Given the description of an element on the screen output the (x, y) to click on. 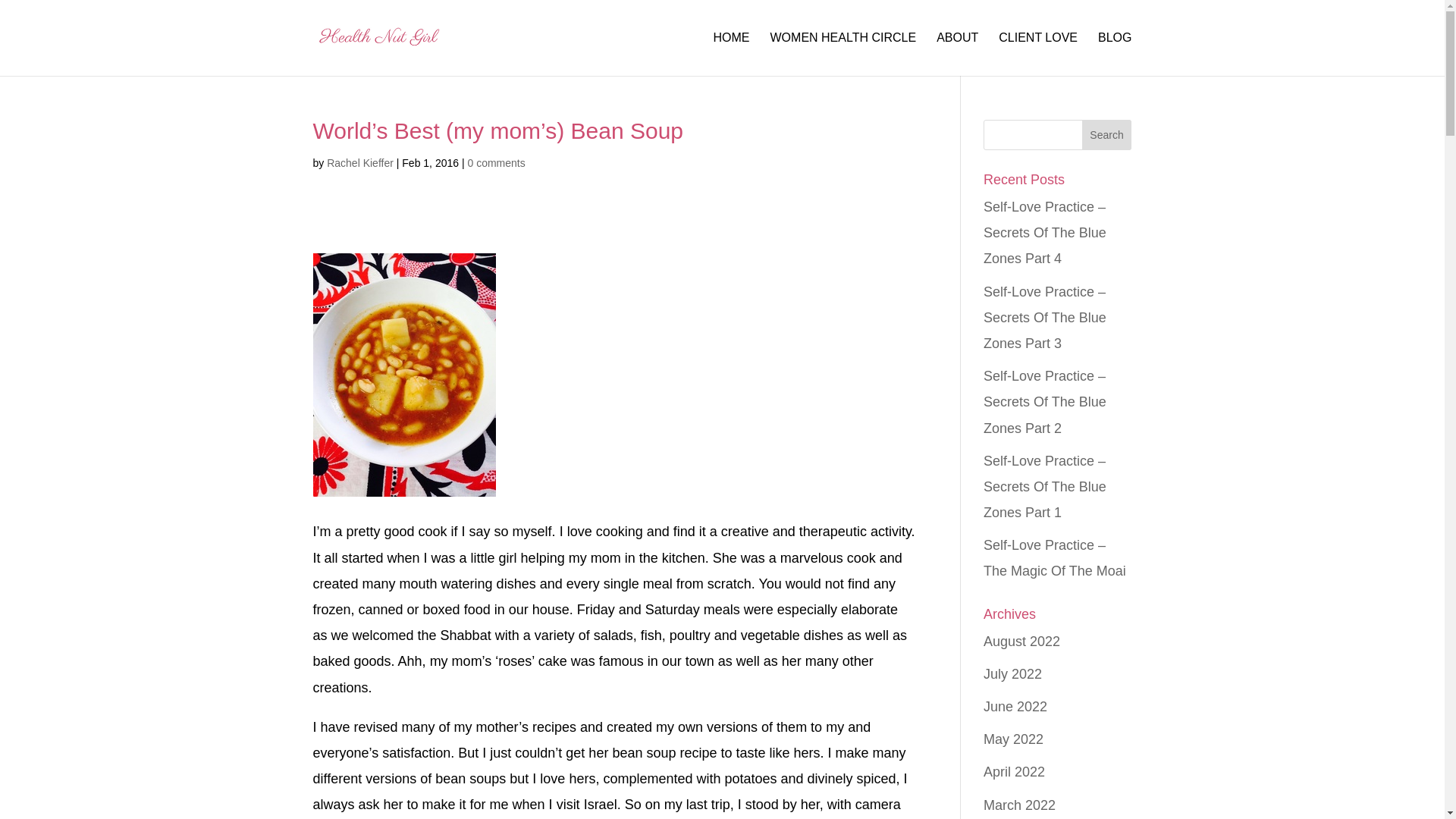
CLIENT LOVE (1037, 54)
June 2022 (1015, 706)
Search (1106, 134)
Rachel Kieffer (359, 162)
May 2022 (1013, 739)
Posts by Rachel Kieffer (359, 162)
ABOUT (957, 54)
BLOG (1114, 54)
0 comments (495, 162)
August 2022 (1021, 641)
April 2022 (1014, 771)
March 2022 (1019, 805)
HOME (731, 54)
July 2022 (1013, 673)
WOMEN HEALTH CIRCLE (843, 54)
